Given the description of an element on the screen output the (x, y) to click on. 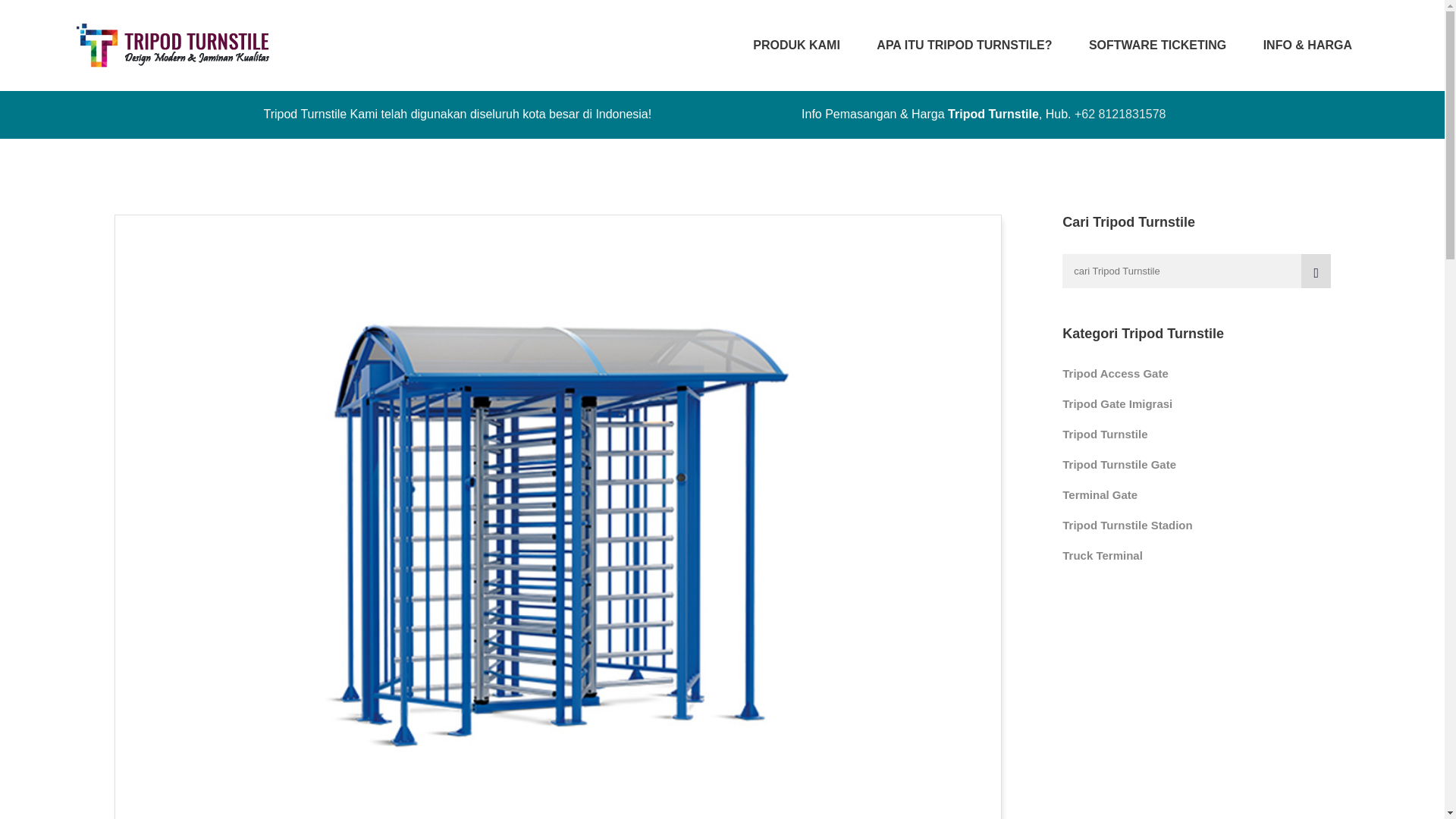
SOFTWARE TICKETING (1157, 45)
APA ITU TRIPOD TURNSTILE? (963, 45)
Software Ticketing (1157, 45)
Apa itu Tripod Turnstile? (963, 45)
TRIPOD TURNSTILE (172, 44)
PRODUK KAMI (796, 45)
